Given the description of an element on the screen output the (x, y) to click on. 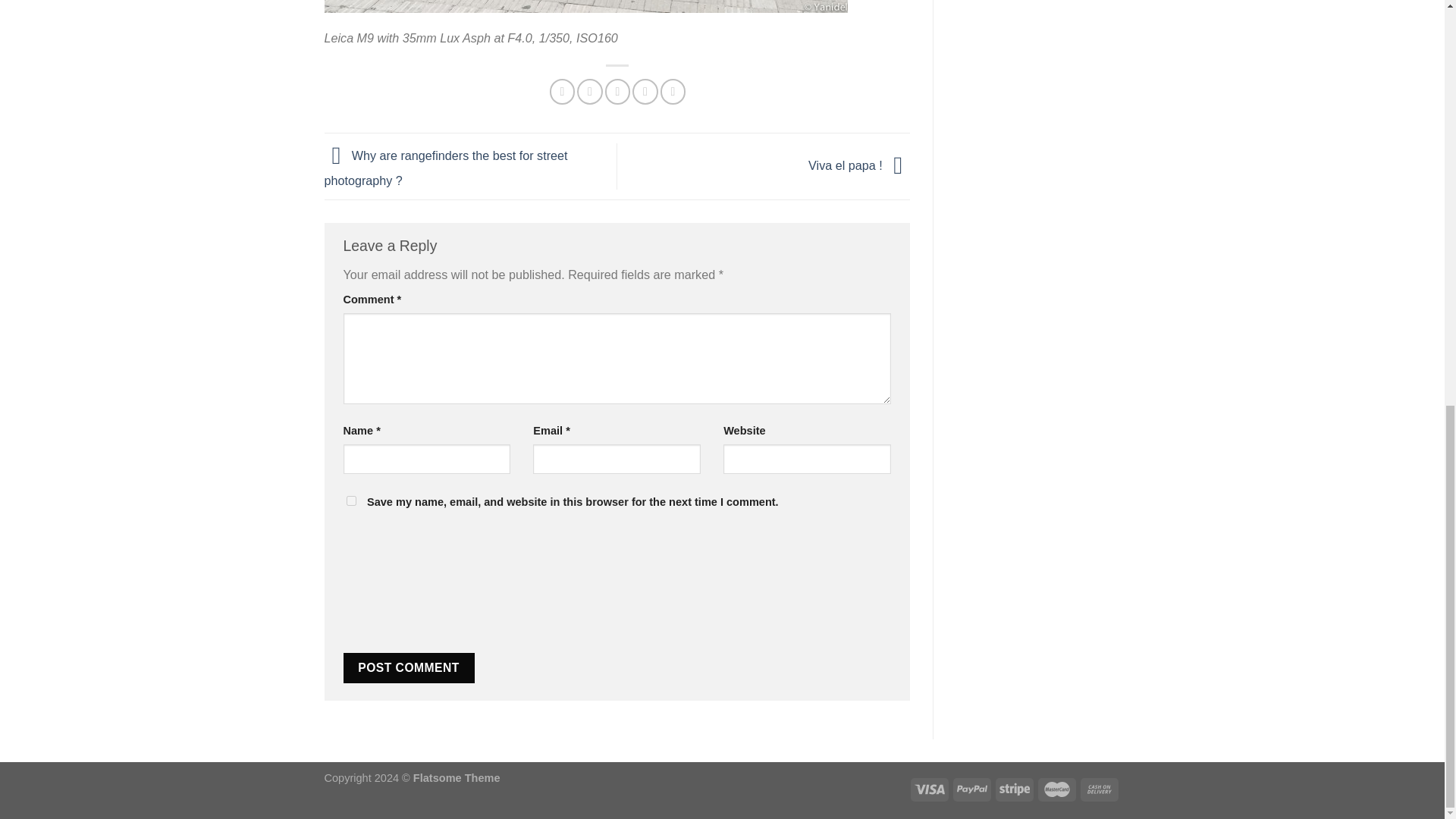
Share on Twitter (589, 91)
Why are rangefinders the best for street photography ? (445, 167)
Viva el papa ! (859, 164)
Email to a Friend (617, 91)
Pin on Pinterest (644, 91)
Post Comment (408, 667)
dogs encounter Rosario yanidel (585, 6)
yes (350, 501)
Share on Facebook (562, 91)
Post Comment (408, 667)
